Given the description of an element on the screen output the (x, y) to click on. 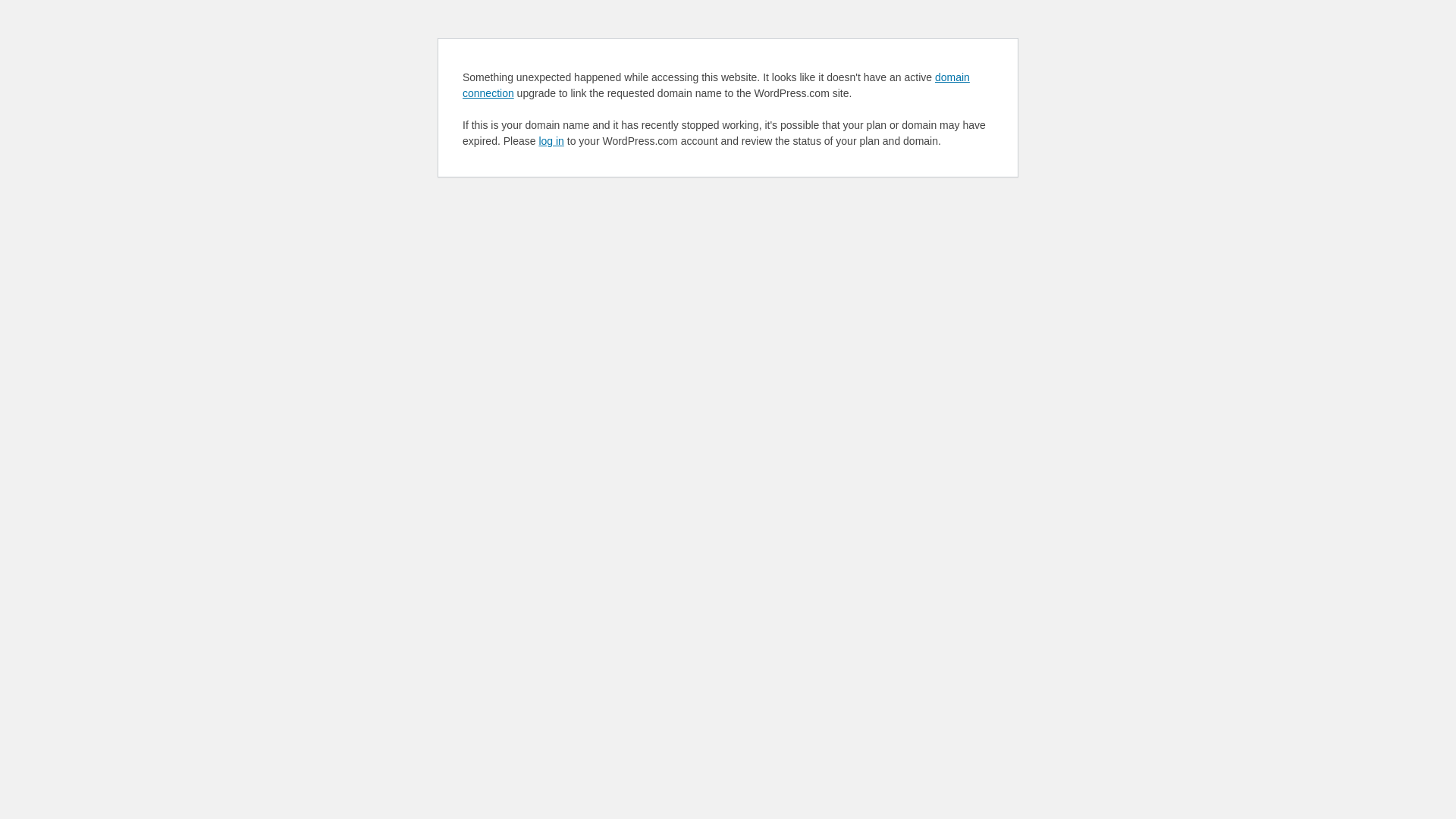
log in Element type: text (550, 140)
domain connection Element type: text (715, 85)
